Given the description of an element on the screen output the (x, y) to click on. 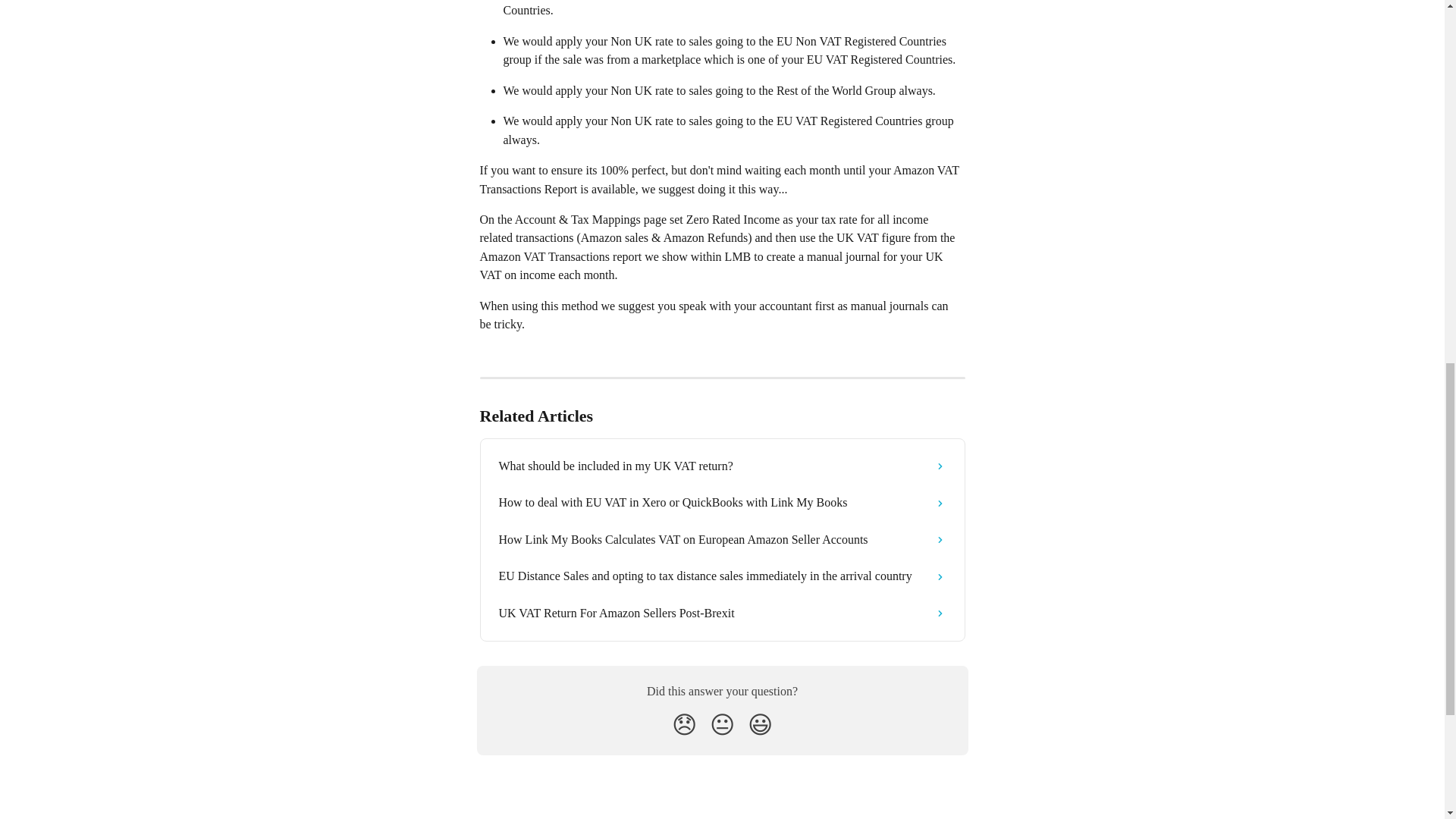
What should be included in my UK VAT return? (722, 465)
UK VAT Return For Amazon Sellers Post-Brexit (722, 613)
Disappointed (684, 724)
Neutral (722, 724)
Smiley (760, 724)
